Given the description of an element on the screen output the (x, y) to click on. 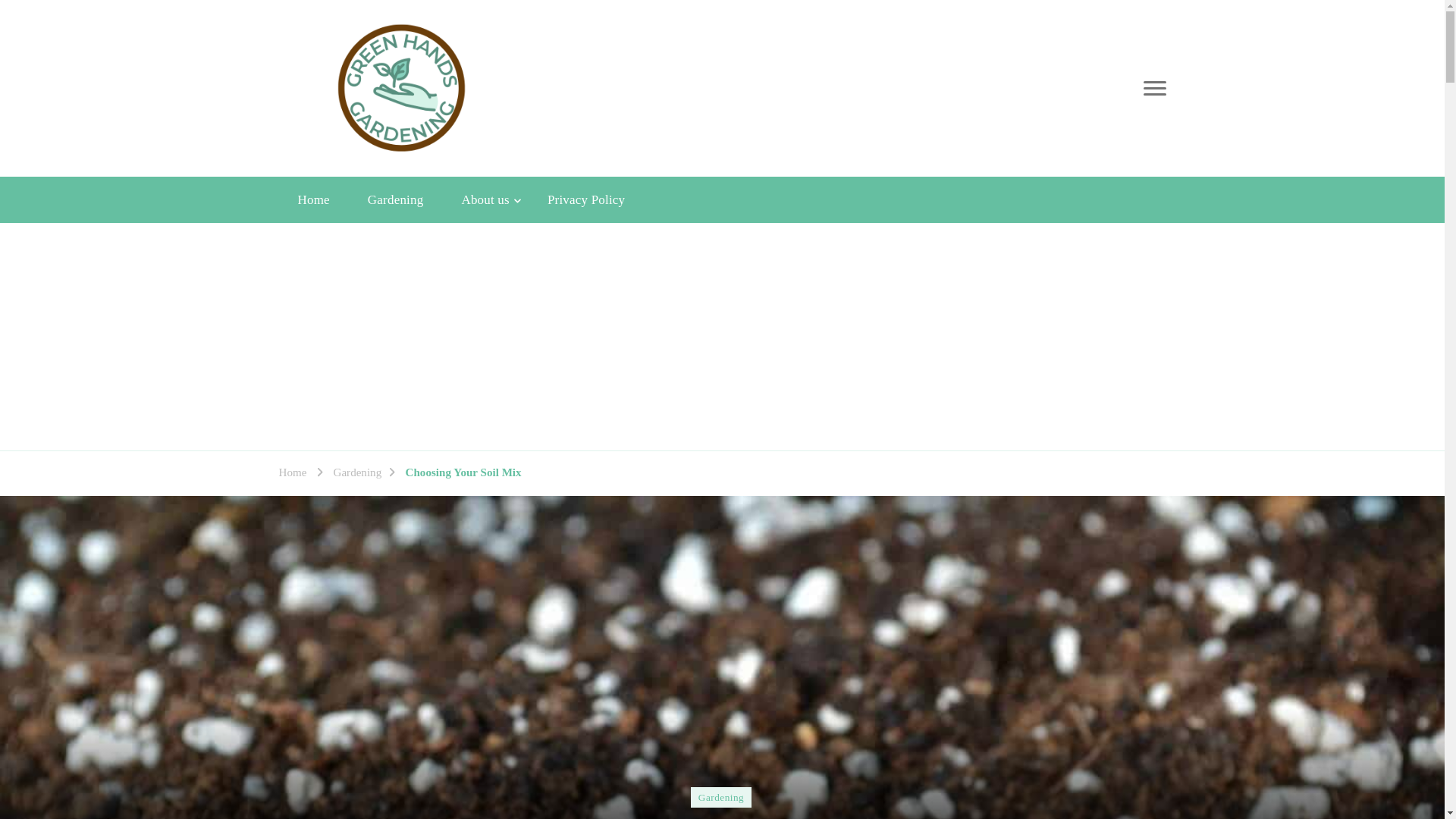
Home (293, 472)
Gardening (357, 472)
Choosing Your Soil Mix (463, 472)
Gardening (720, 797)
Gardening (395, 199)
Home (314, 199)
Green Hands Gardening (656, 101)
Privacy Policy (585, 199)
About us (484, 199)
